Given the description of an element on the screen output the (x, y) to click on. 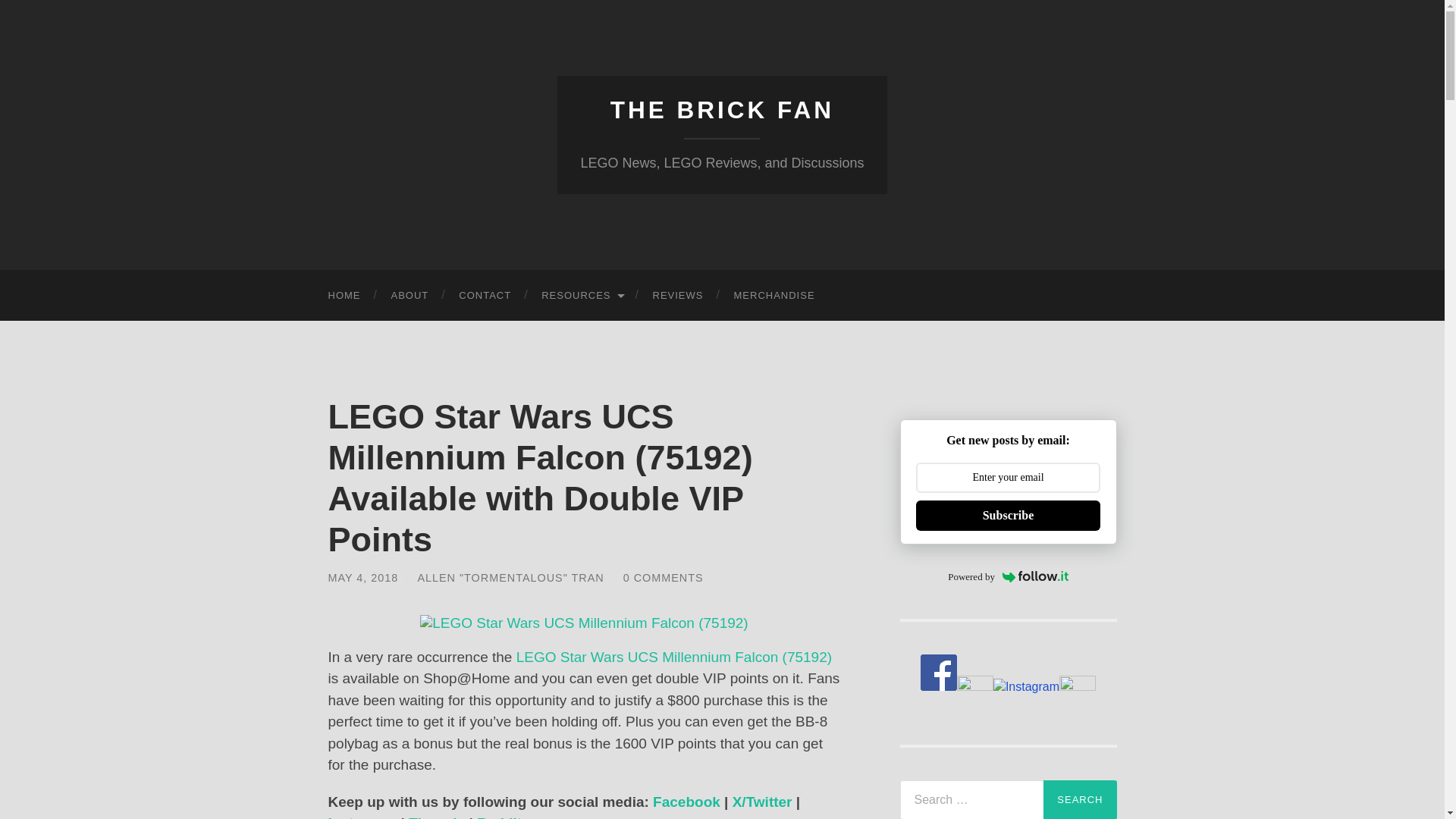
Search (1079, 799)
0 COMMENTS (663, 577)
MAY 4, 2018 (362, 577)
Threads (436, 816)
Posts by Allen "Tormentalous" Tran (510, 577)
ALLEN "TORMENTALOUS" TRAN (510, 577)
Instagram (361, 816)
HOME (344, 295)
Search (1079, 799)
REVIEWS (678, 295)
